Given the description of an element on the screen output the (x, y) to click on. 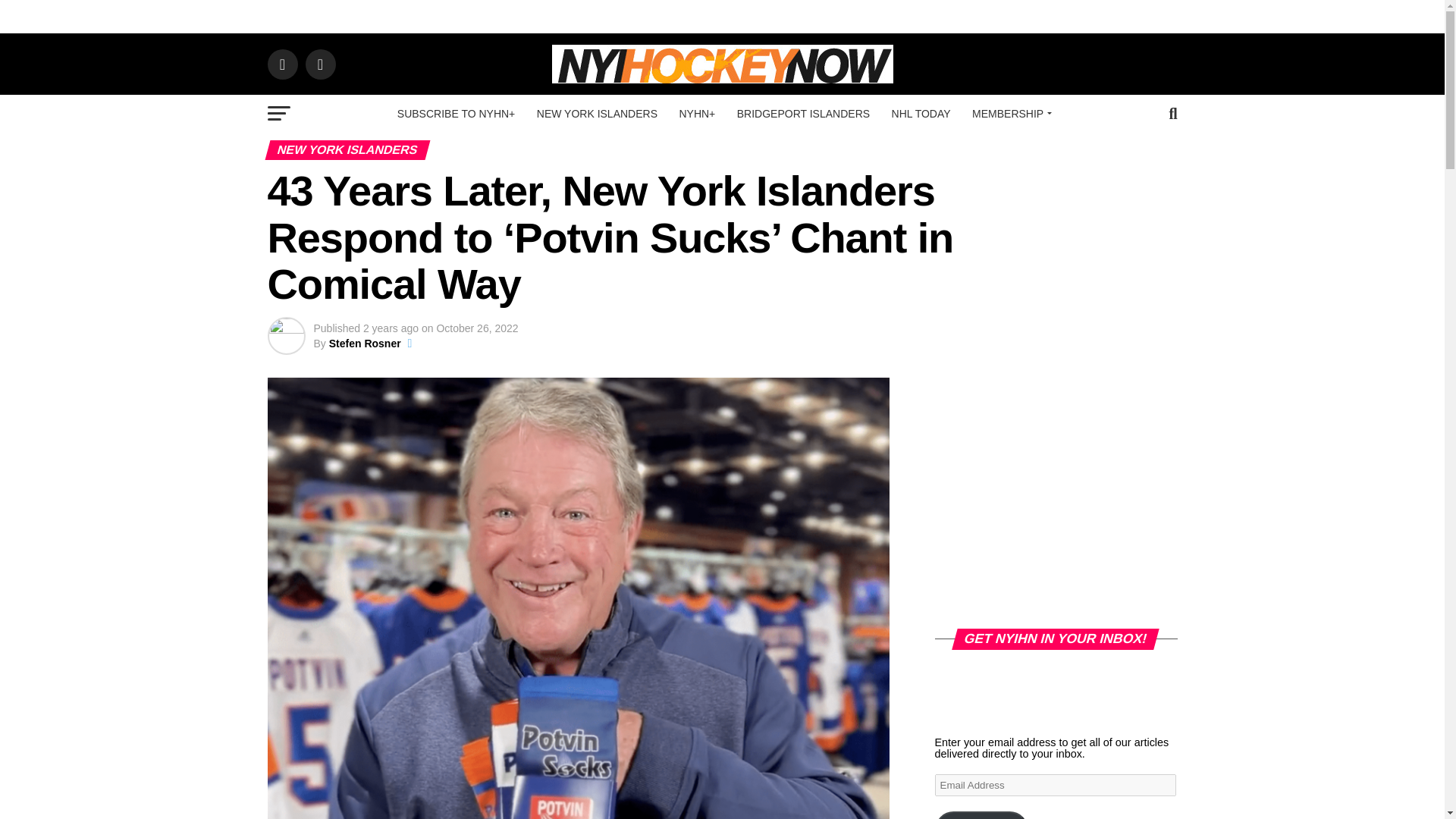
BRIDGEPORT ISLANDERS (803, 113)
Posts by Stefen Rosner (365, 343)
NEW YORK ISLANDERS (596, 113)
NHL TODAY (920, 113)
